Given the description of an element on the screen output the (x, y) to click on. 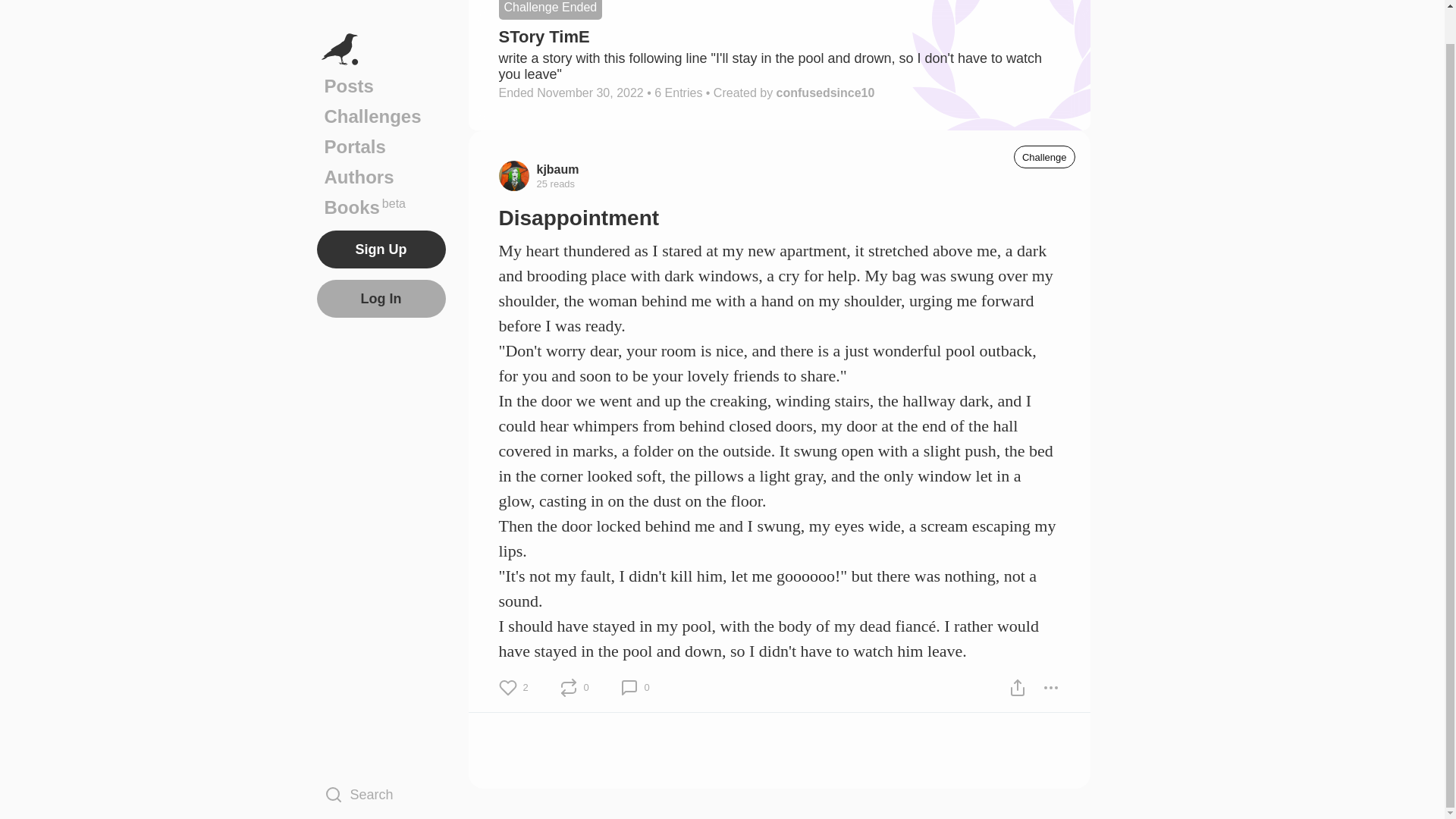
kjbaum (558, 168)
Search (381, 760)
confusedsince10 (825, 92)
Challenges (381, 81)
Challenge (1044, 156)
Portals (381, 173)
Posts (381, 112)
Authors (381, 51)
